Given the description of an element on the screen output the (x, y) to click on. 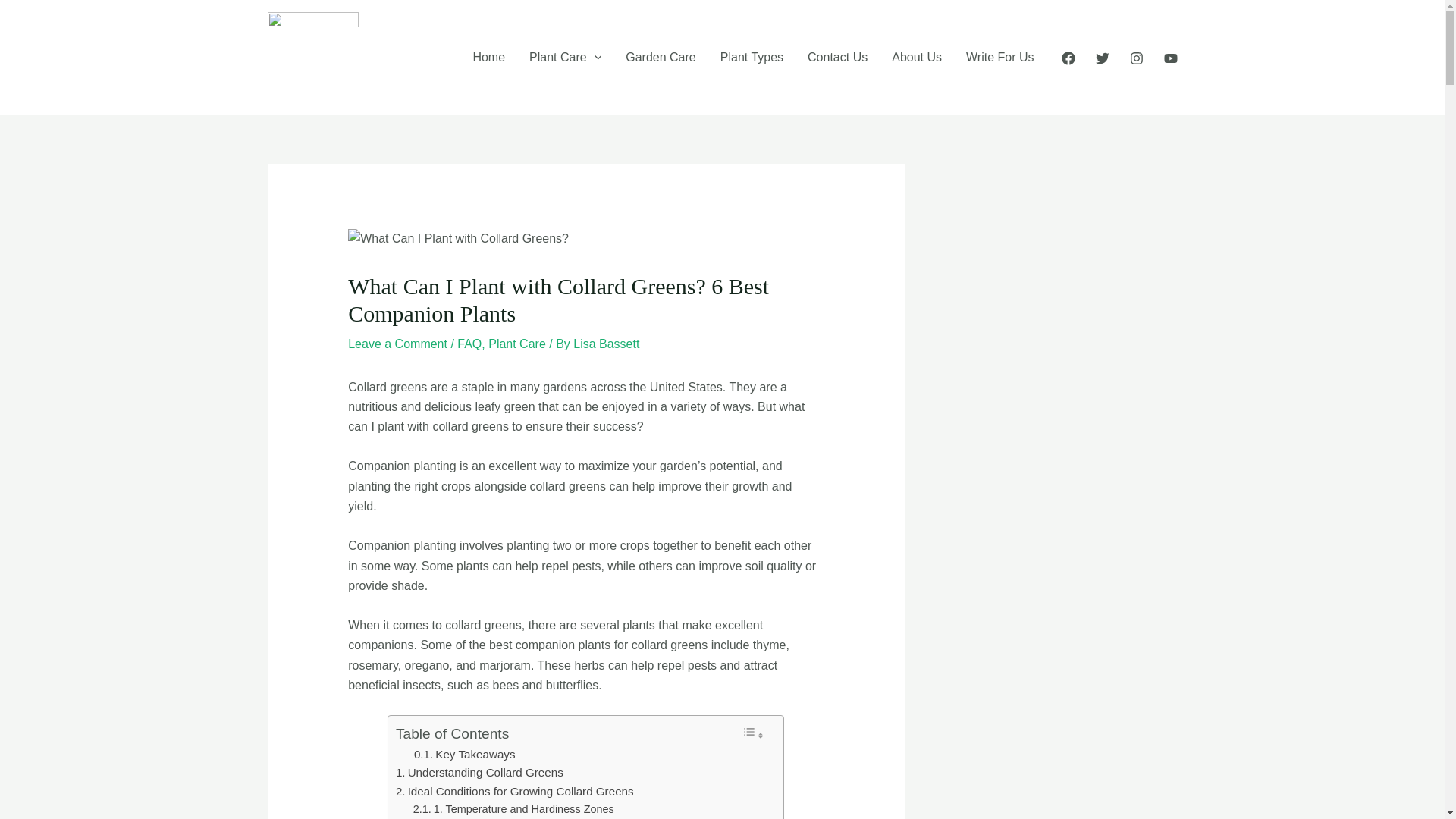
Plant Care (516, 343)
2. Soil (438, 818)
Leave a Comment (396, 343)
Write For Us (999, 57)
Key Takeaways (464, 754)
Plant Care (564, 57)
Plant Types (750, 57)
View all posts by Lisa Bassett (606, 343)
About Us (916, 57)
Ideal Conditions for Growing Collard Greens (514, 791)
